Given the description of an element on the screen output the (x, y) to click on. 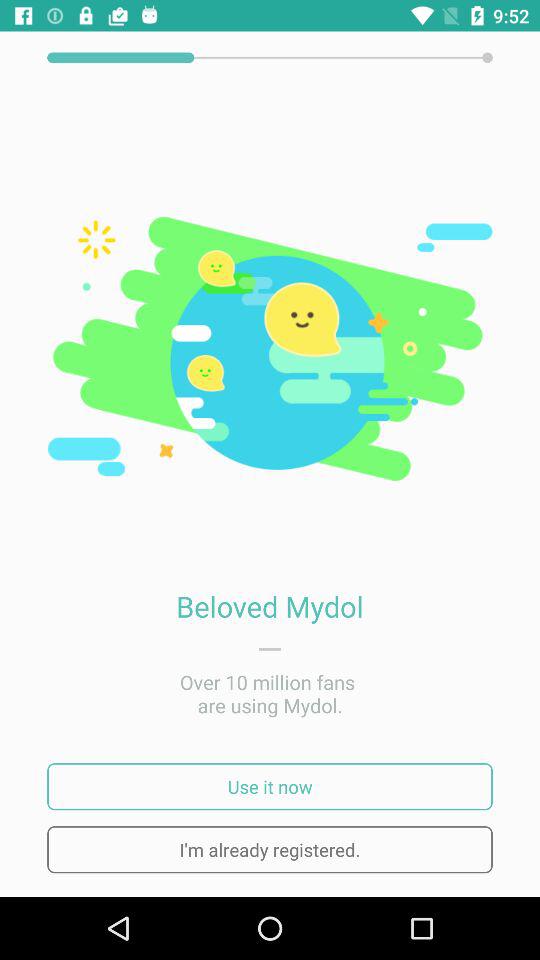
select icon below use it now item (269, 849)
